Given the description of an element on the screen output the (x, y) to click on. 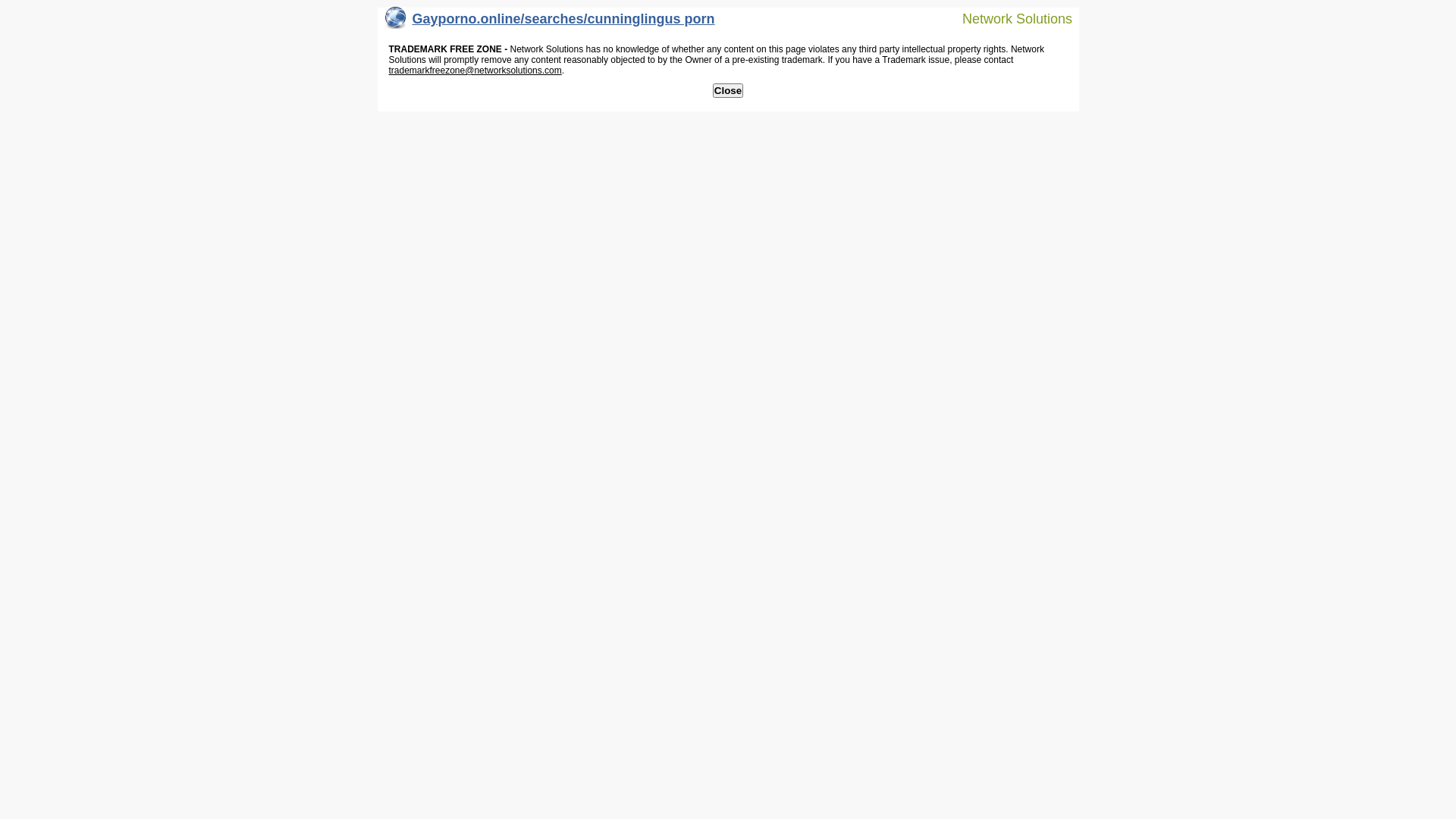
Network Solutions Element type: text (1007, 17)
Gayporno.online/searches/cunninglingus porn Element type: text (550, 21)
trademarkfreezone@networksolutions.com Element type: text (474, 70)
Close Element type: text (727, 90)
